Given the description of an element on the screen output the (x, y) to click on. 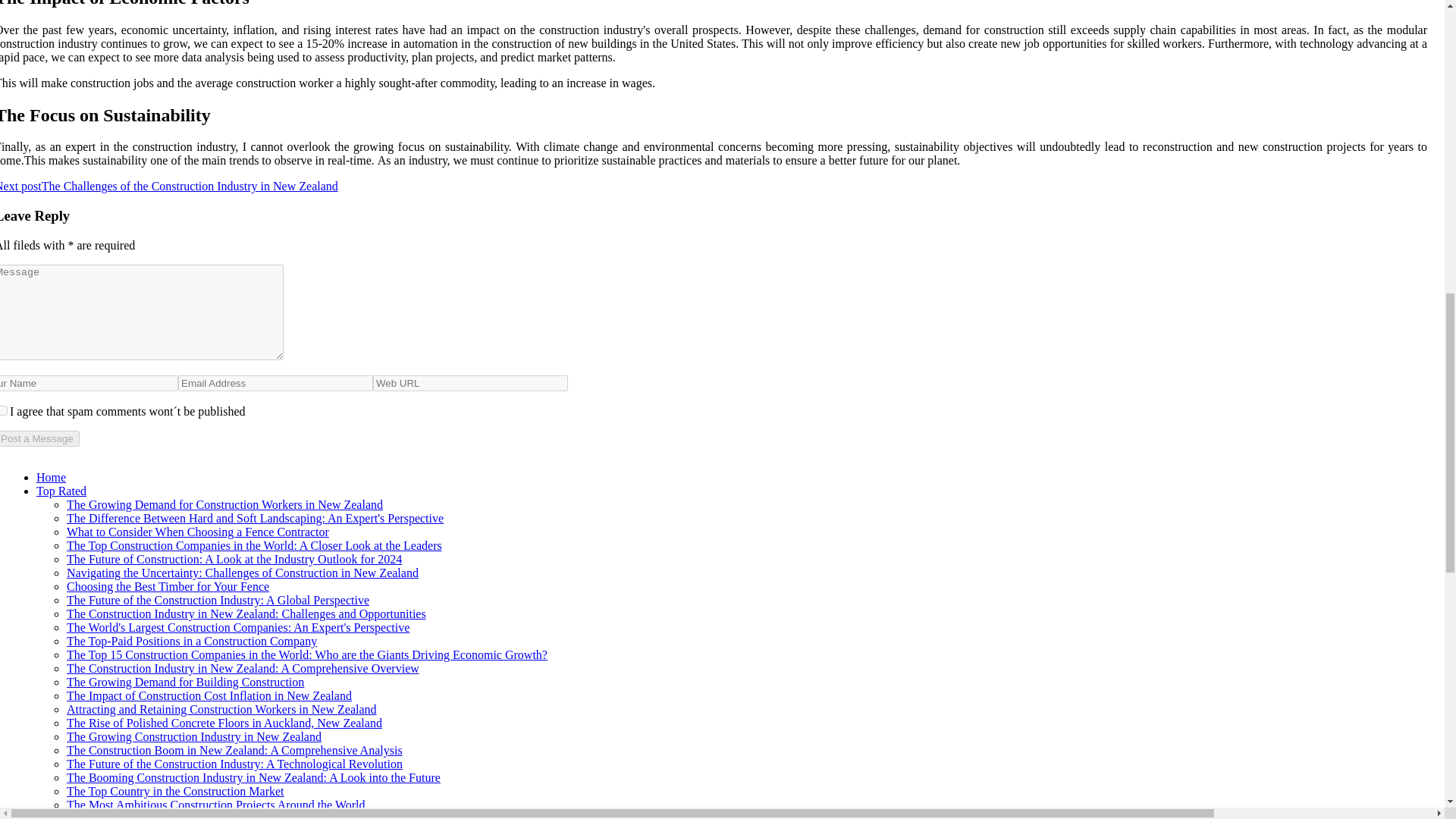
Home (50, 477)
The Impact of Construction Cost Inflation in New Zealand (209, 695)
Post a Message (40, 438)
Choosing the Best Timber for Your Fence (167, 585)
The Growing Demand for Building Construction (185, 681)
